Given the description of an element on the screen output the (x, y) to click on. 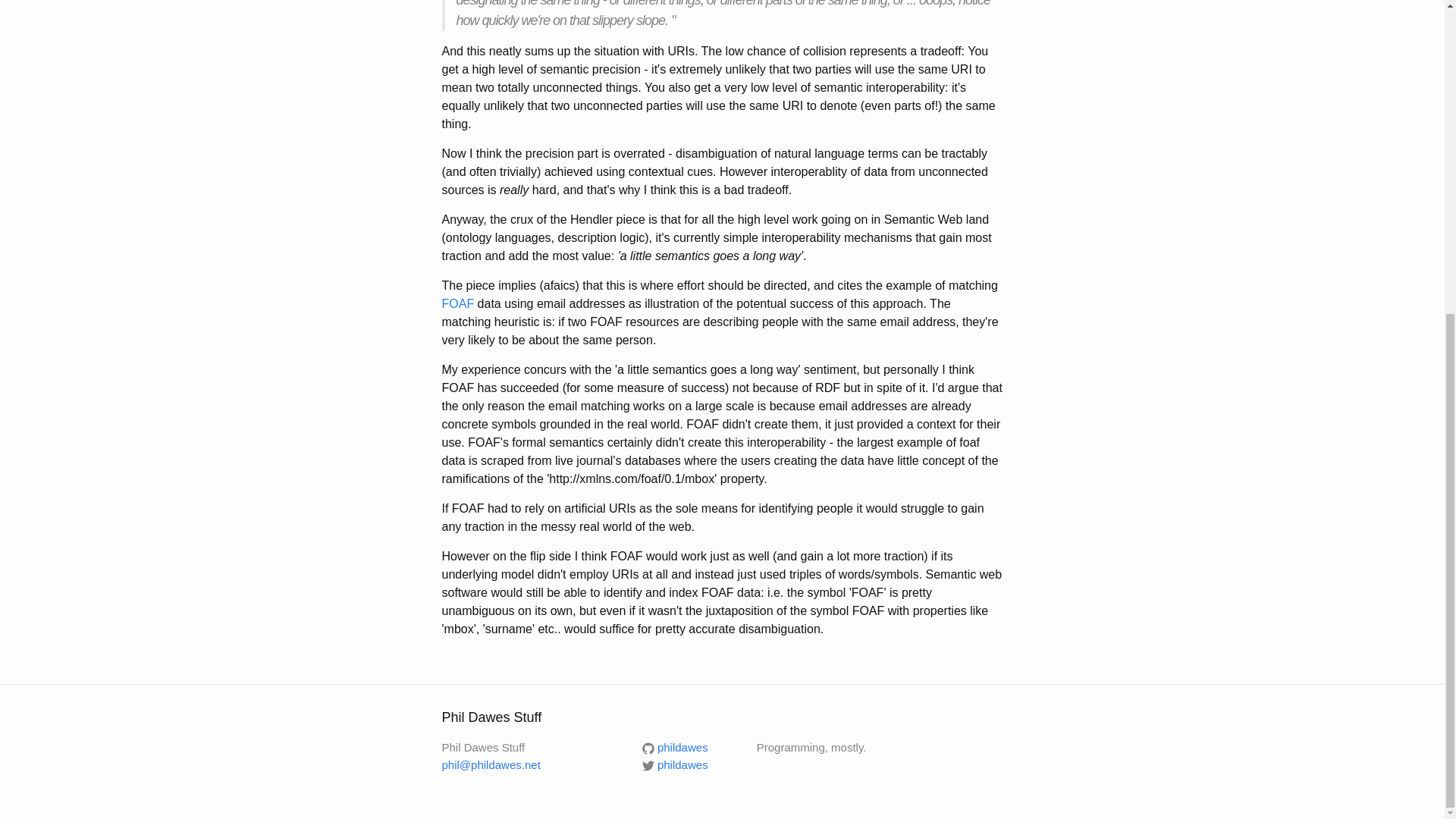
FOAF (457, 303)
phildawes (674, 747)
phildawes (674, 763)
